Given the description of an element on the screen output the (x, y) to click on. 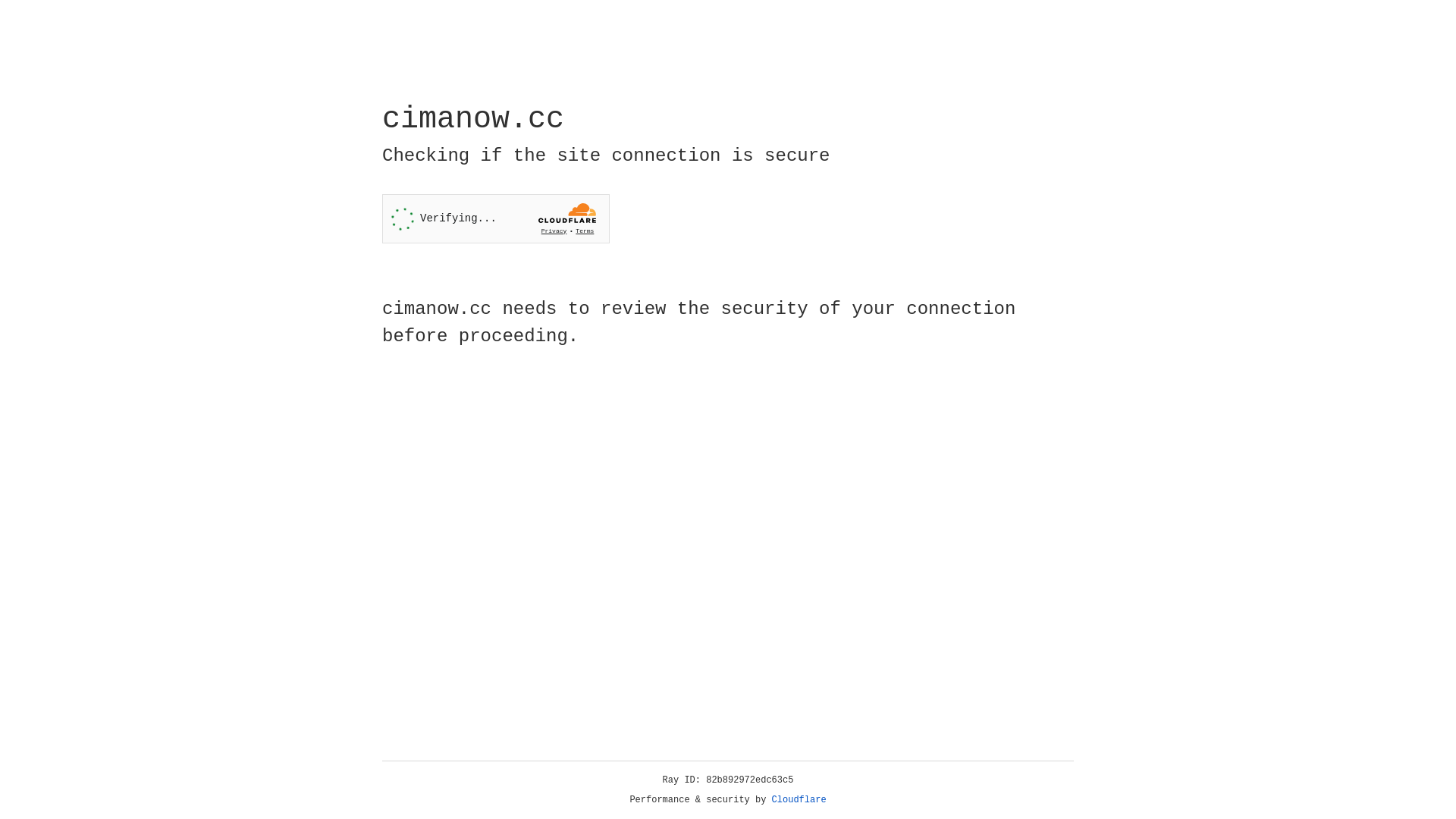
Widget containing a Cloudflare security challenge Element type: hover (495, 218)
Cloudflare Element type: text (798, 799)
